Given the description of an element on the screen output the (x, y) to click on. 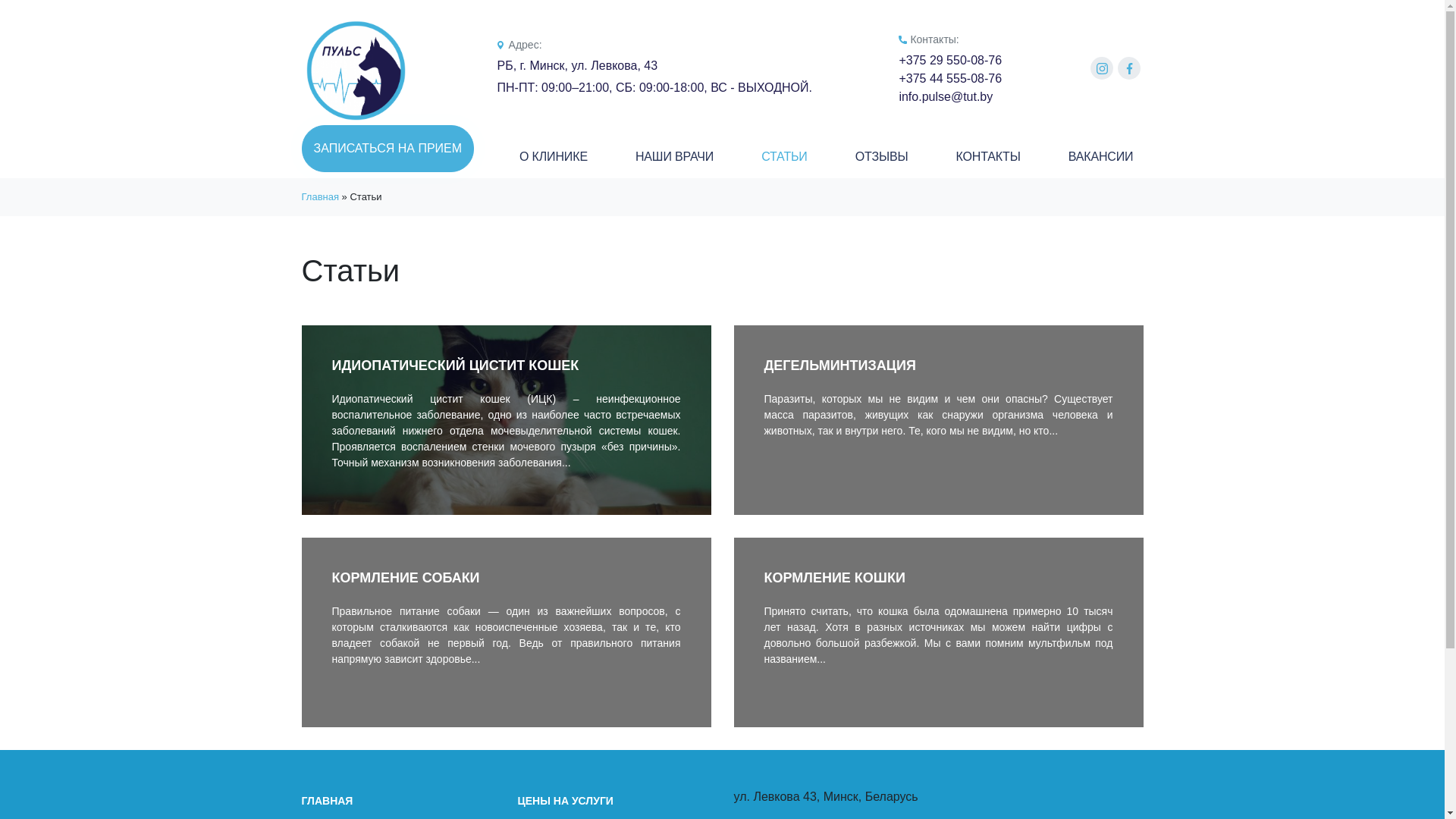
info.pulse@tut.by Element type: text (949, 96)
+375 29 550-08-76 Element type: text (949, 60)
+375 44 555-08-76 Element type: text (949, 78)
